Given the description of an element on the screen output the (x, y) to click on. 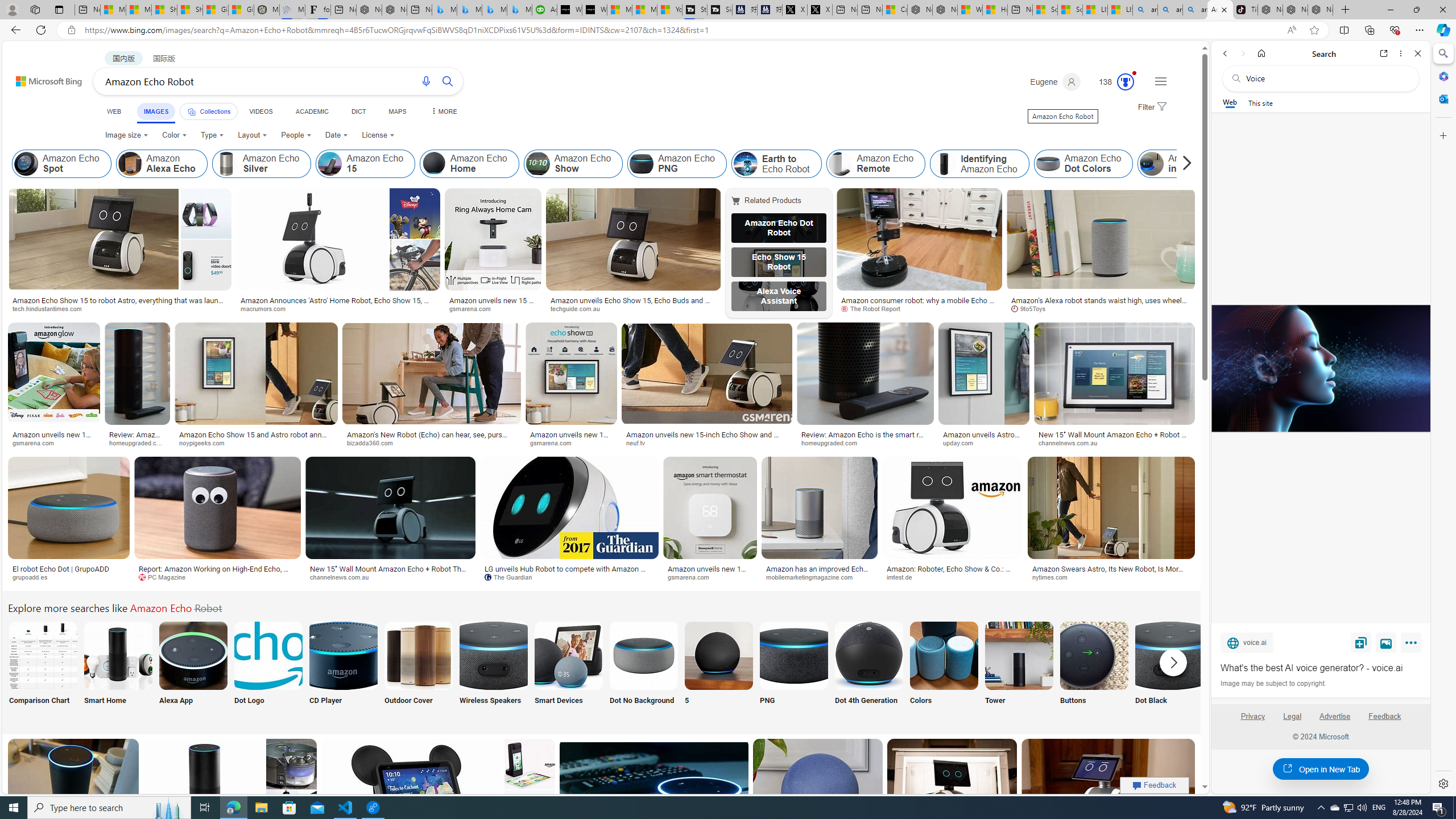
Amazon Echo Dot Colors (1082, 163)
Image may be subject to copyright. (1273, 682)
Image size (126, 135)
VIDEOS (260, 111)
This site scope (1259, 102)
imtest.de (952, 576)
Identifying Amazon Echo (943, 163)
ACADEMIC (311, 111)
Manatee Mortality Statistics | FWC (265, 9)
MAPS (397, 111)
